Given the description of an element on the screen output the (x, y) to click on. 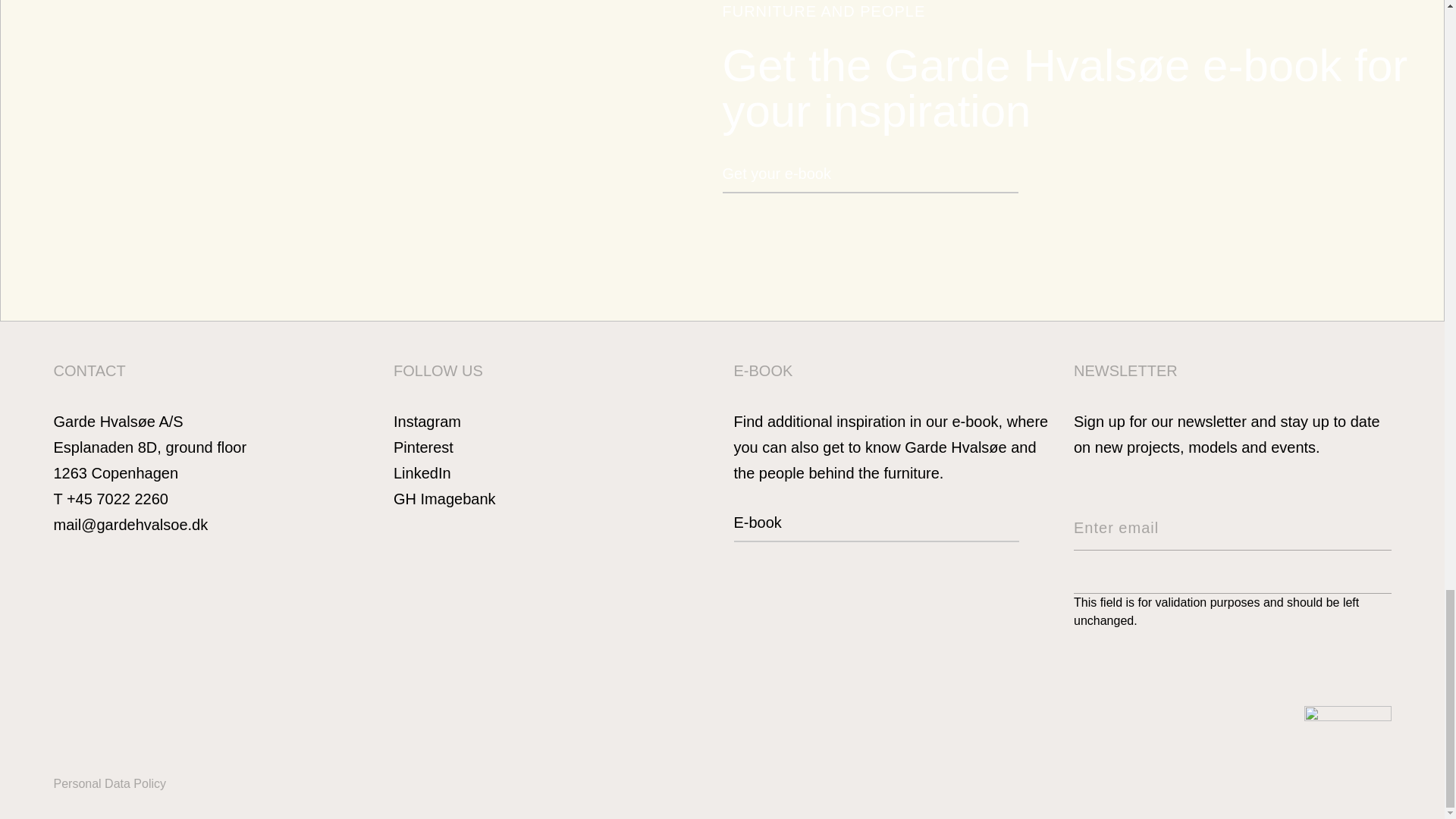
Instagram (427, 421)
Pinterest (422, 446)
LinkedIn (422, 473)
Submit (1375, 615)
Get your e-book (869, 178)
GH Imagebank (444, 498)
Personal Data Policy (108, 783)
E-book (876, 527)
Submit (1375, 615)
